Given the description of an element on the screen output the (x, y) to click on. 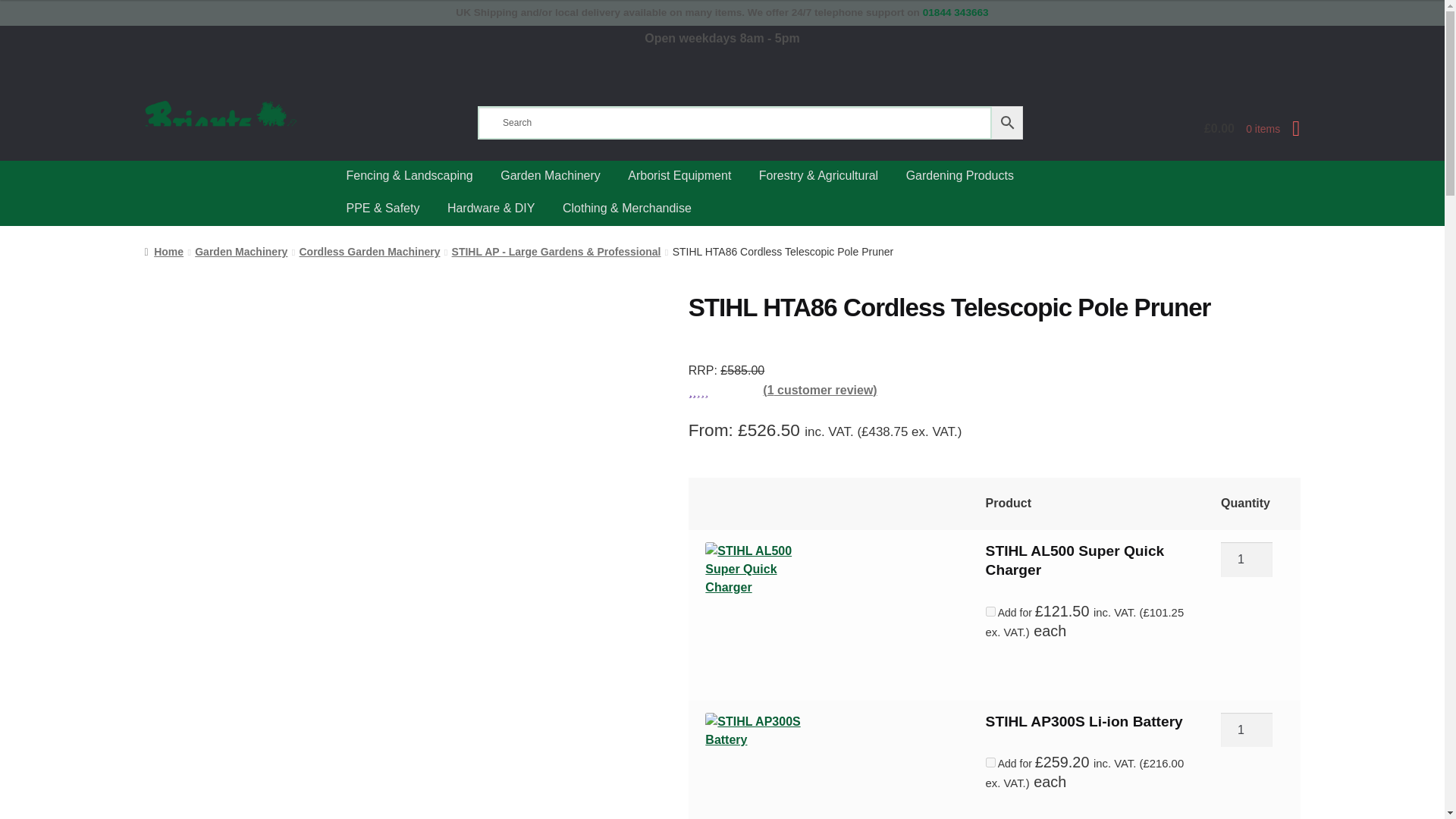
STIHL AL500 (755, 592)
Home (163, 251)
ap300s (755, 763)
01844 343663 (955, 12)
1 (1246, 729)
Garden Machinery (240, 251)
Cordless Garden Machinery (368, 251)
Gardening Products (959, 176)
Garden Machinery (549, 176)
